Given the description of an element on the screen output the (x, y) to click on. 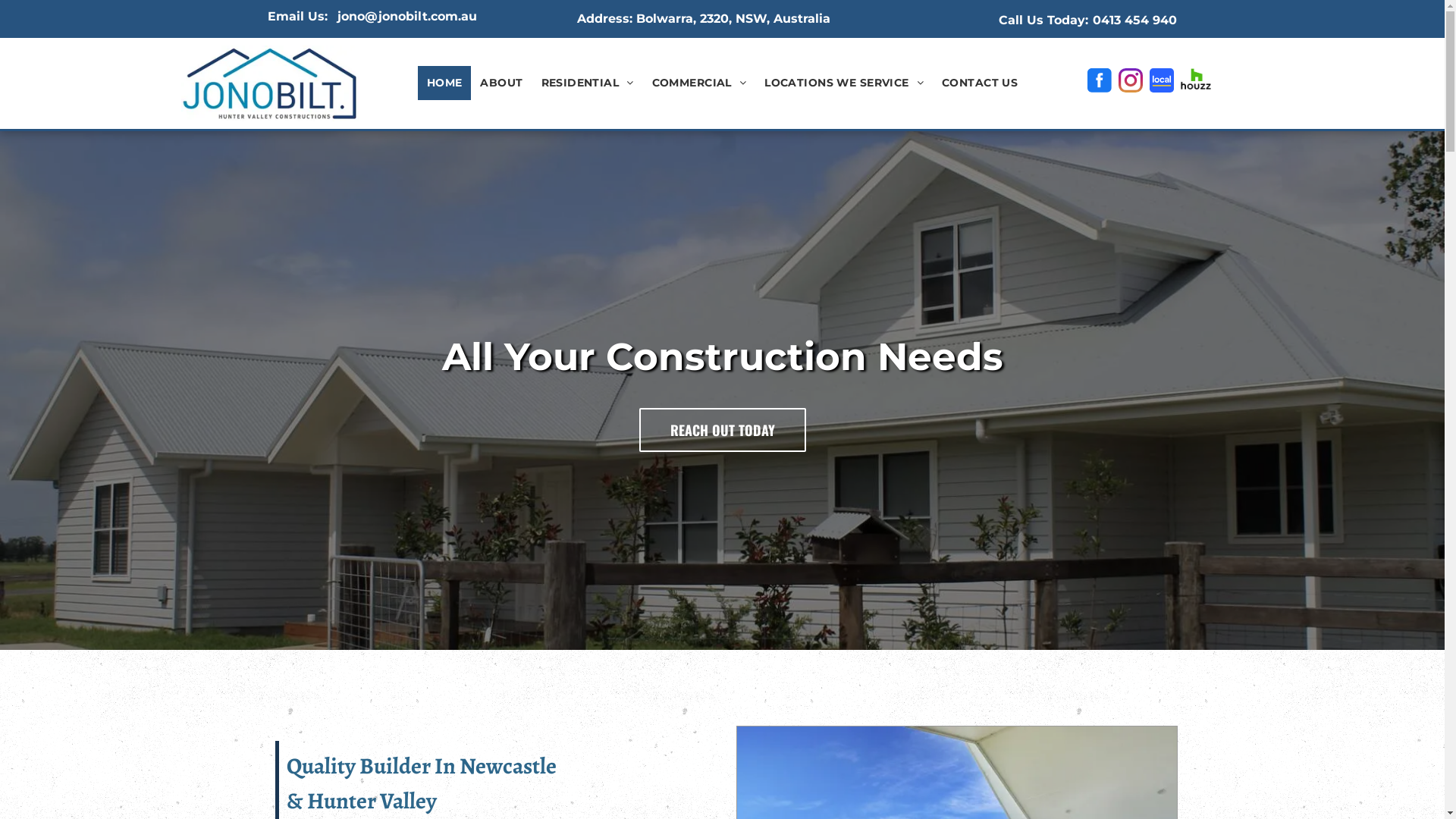
CONTACT US Element type: text (979, 82)
ABOUT Element type: text (500, 82)
HOME Element type: text (444, 82)
Follow Us On Instagram Element type: hover (1130, 80)
jono@jonobilt.com.au Element type: text (406, 16)
Bolwarra, 2320, NSW, Australia Element type: text (733, 18)
Find Us On Houzz Element type: hover (1195, 78)
www.localsearch.com.au Element type: hover (1161, 80)
COMMERCIAL Element type: text (699, 82)
LOCATIONS WE SERVICE Element type: text (843, 82)
Find Us On Facebook Element type: hover (1099, 80)
REACH OUT TODAY Element type: text (721, 429)
Quality Builder In Newcastle & Hunter Valley Element type: hover (270, 83)
RESIDENTIAL Element type: text (587, 82)
0413 454 940 Element type: text (1134, 19)
